Given the description of an element on the screen output the (x, y) to click on. 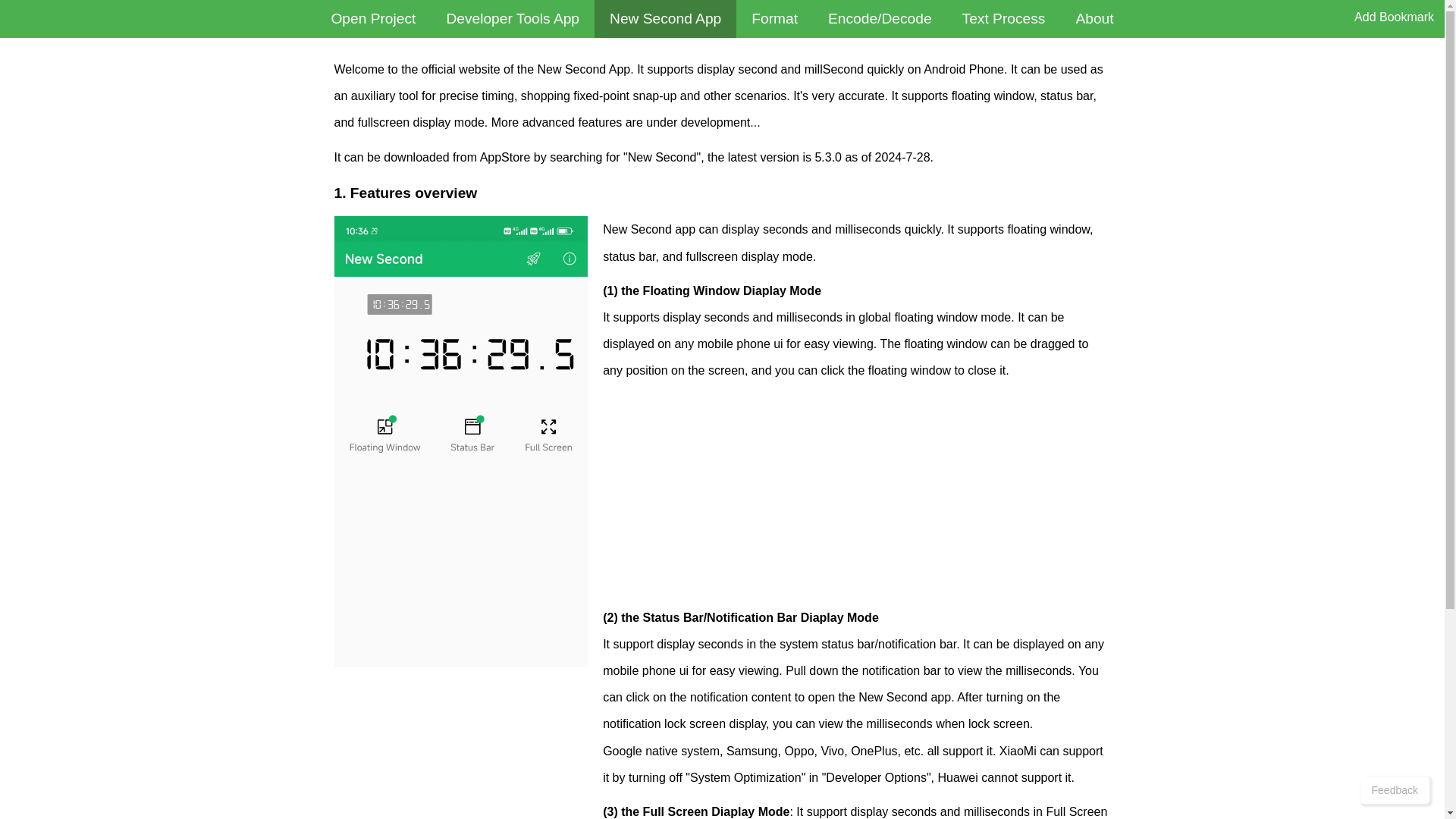
About (1093, 18)
New Second App (665, 18)
Add Bookmark (1394, 17)
Text Process (1004, 18)
Developer Tools App (512, 18)
Advertisement (855, 498)
Feedback (1394, 789)
Format (774, 18)
Open Project (372, 18)
